Given the description of an element on the screen output the (x, y) to click on. 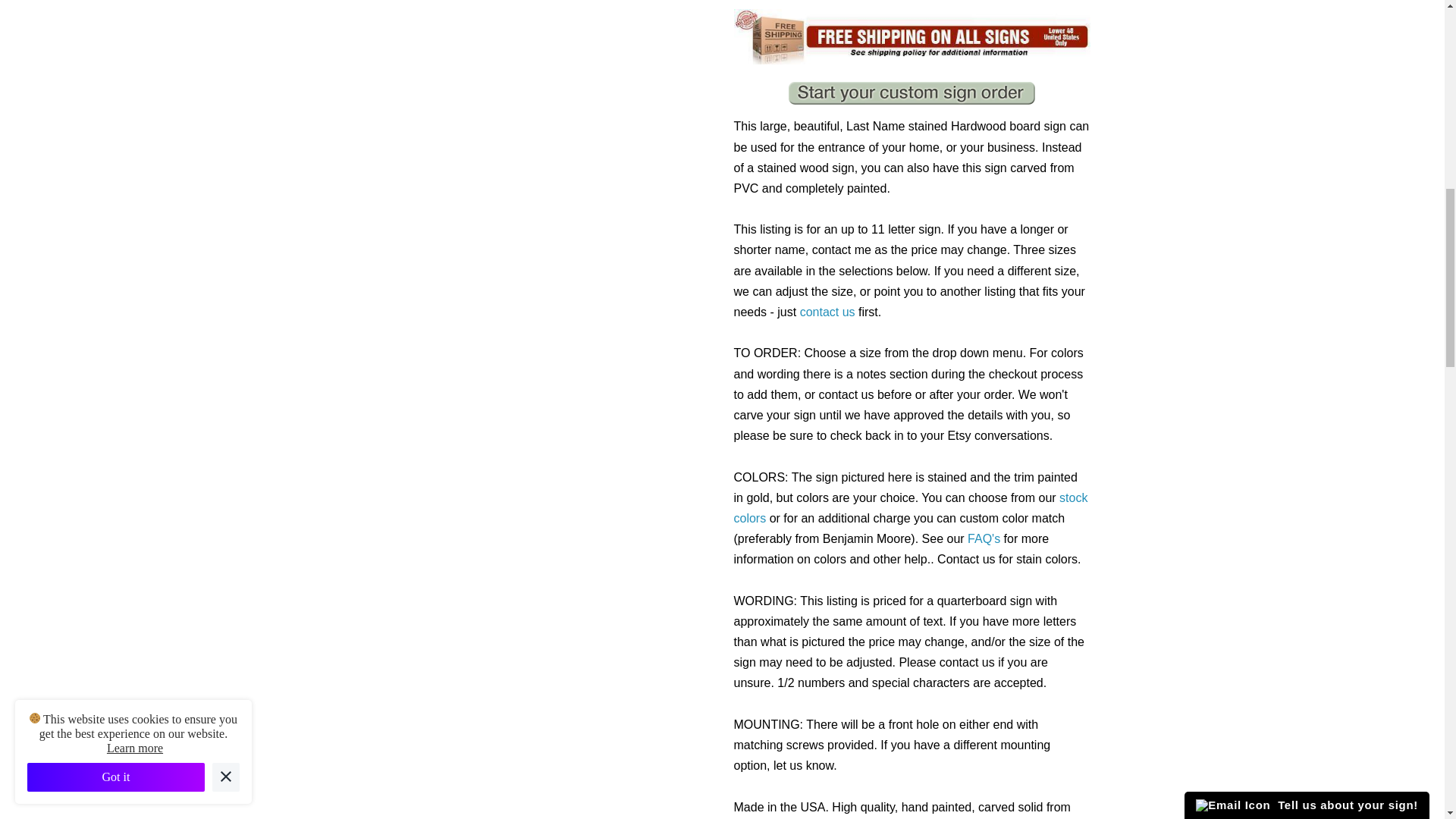
Custom sign order form (911, 92)
Contact for custom order (827, 311)
Frequently Asked Questions (984, 538)
Stock Colors (910, 507)
